Given the description of an element on the screen output the (x, y) to click on. 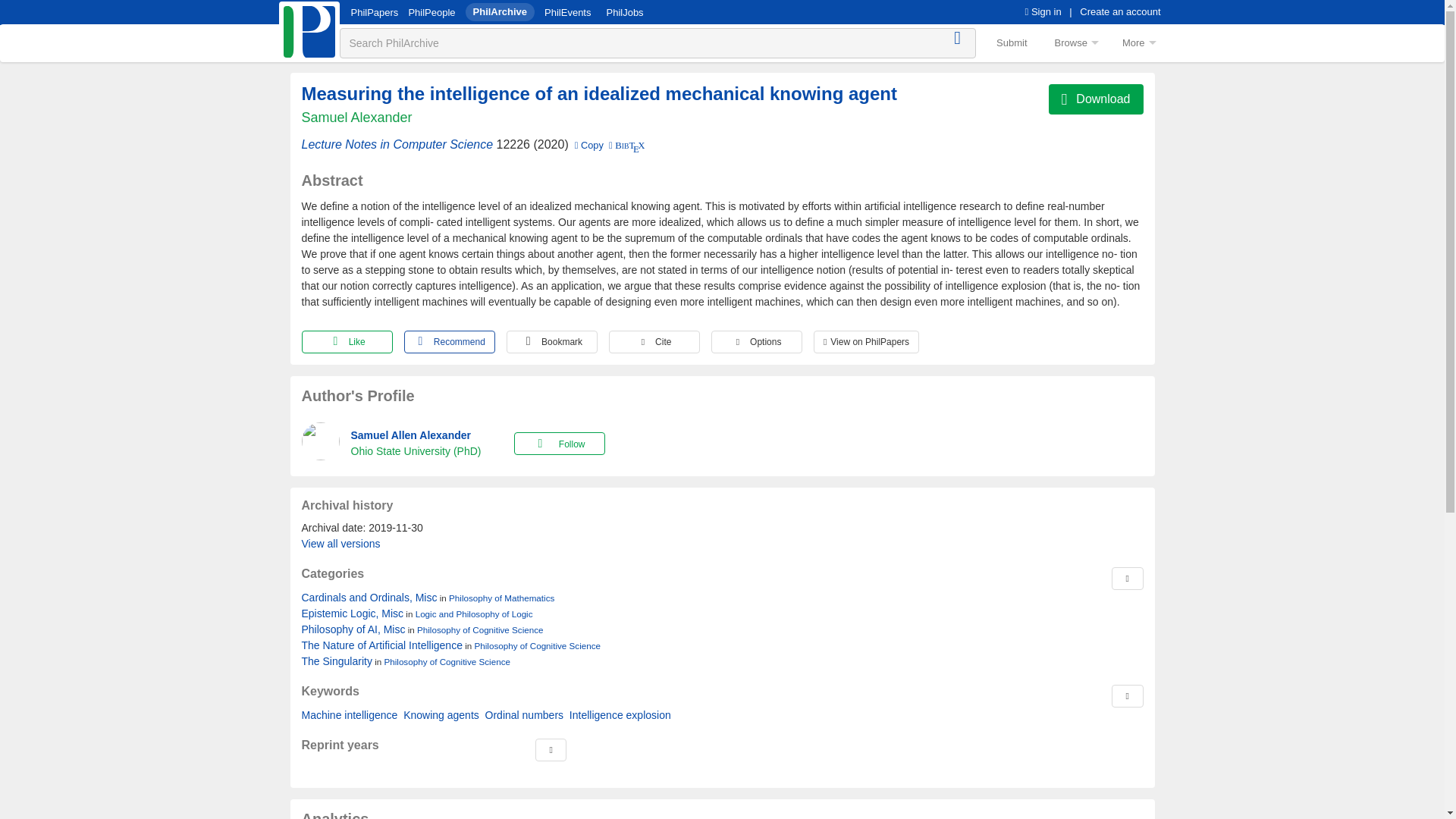
Create an account (1120, 11)
PhilEvents (567, 12)
Copy text citation to clipboard (588, 144)
Submit (1011, 42)
Browse (1074, 42)
PhilArchive home (309, 31)
PhilJobs (624, 12)
Copy BibTeX to clipboard (625, 144)
View other works by Samuel Alexander (356, 117)
PhilPeople (430, 12)
Sign in (1043, 11)
PhilPapers (373, 12)
